Given the description of an element on the screen output the (x, y) to click on. 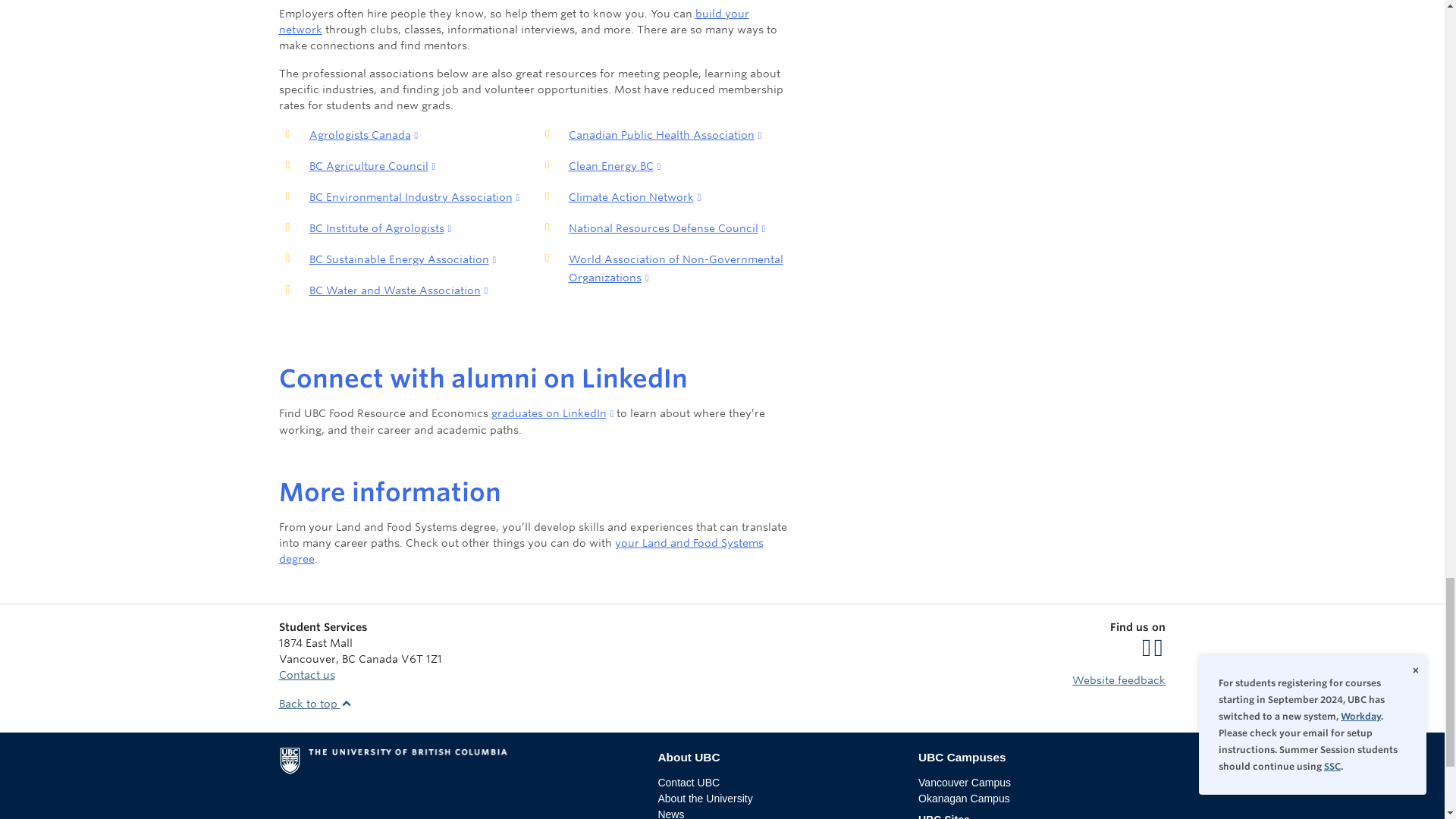
Contact us (306, 674)
Back to top (315, 703)
BC (347, 658)
Website feedback (1118, 680)
